Given the description of an element on the screen output the (x, y) to click on. 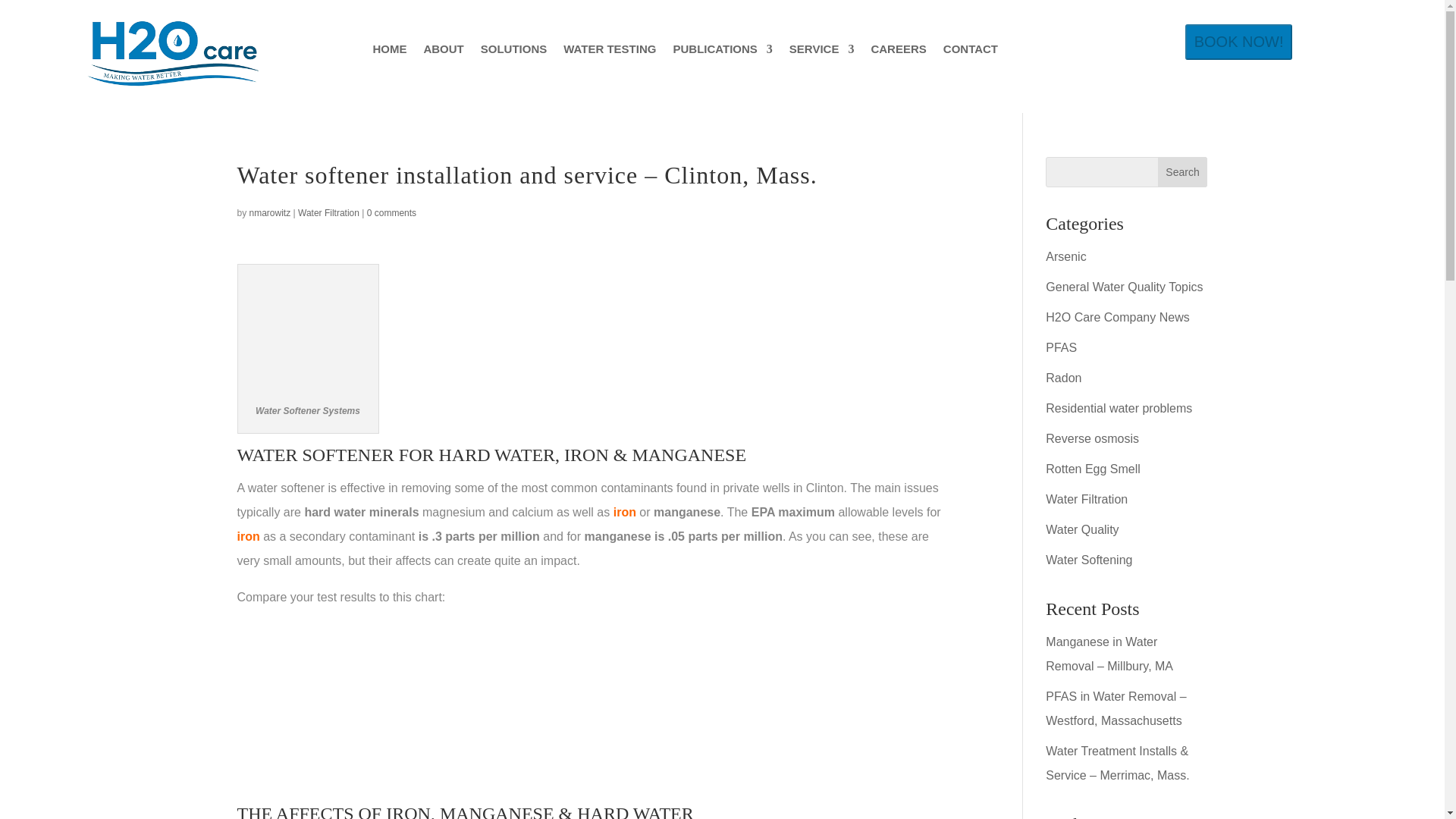
Arsenic (1065, 256)
Radon (1063, 377)
BOOK NOW! (1238, 41)
HOME (389, 52)
0 comments (391, 213)
PUBLICATIONS (721, 52)
CAREERS (898, 52)
Water Filtration (328, 213)
Residential water problems (1118, 408)
PFAS (1061, 347)
